Given the description of an element on the screen output the (x, y) to click on. 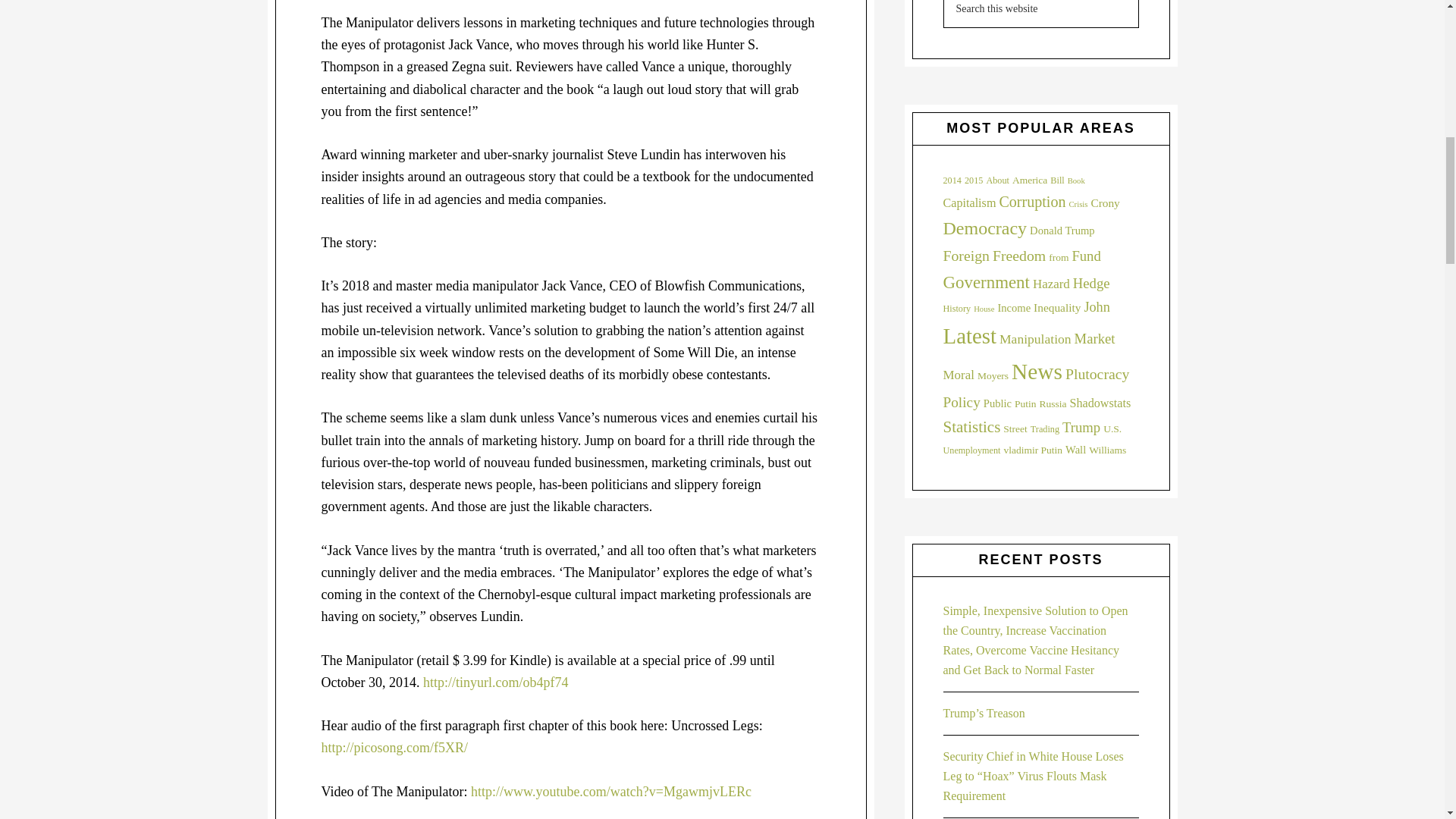
Capitalism (969, 202)
Crisis (1077, 203)
Democracy (985, 228)
Bill (1056, 180)
2014 (951, 180)
Corruption (1031, 201)
About (997, 180)
America (1028, 179)
Crony (1104, 202)
2015 (972, 180)
Book (1075, 180)
